Given the description of an element on the screen output the (x, y) to click on. 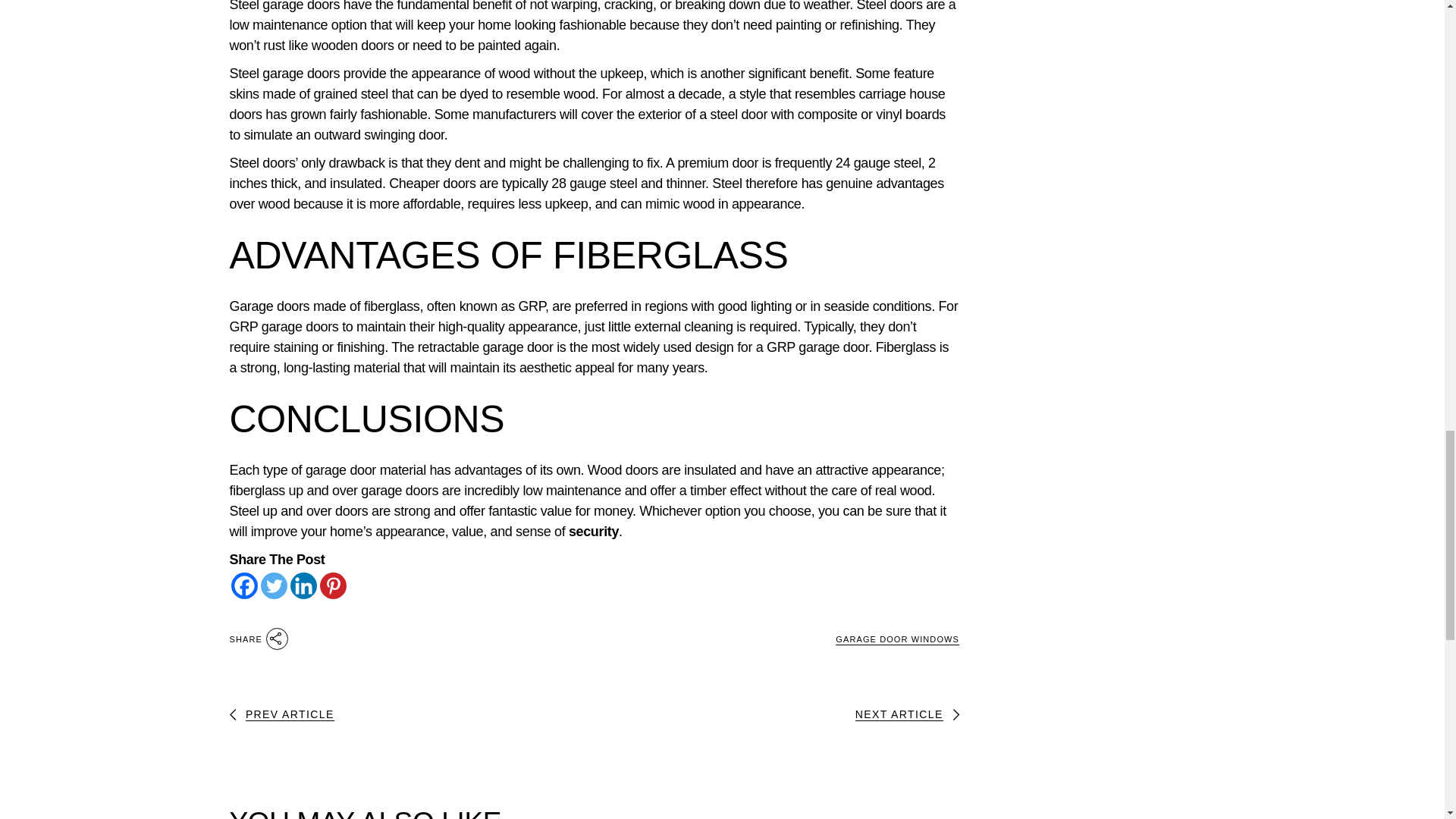
Linkedin (302, 585)
Facebook (243, 585)
Twitter (273, 585)
Pinterest (333, 585)
